Given the description of an element on the screen output the (x, y) to click on. 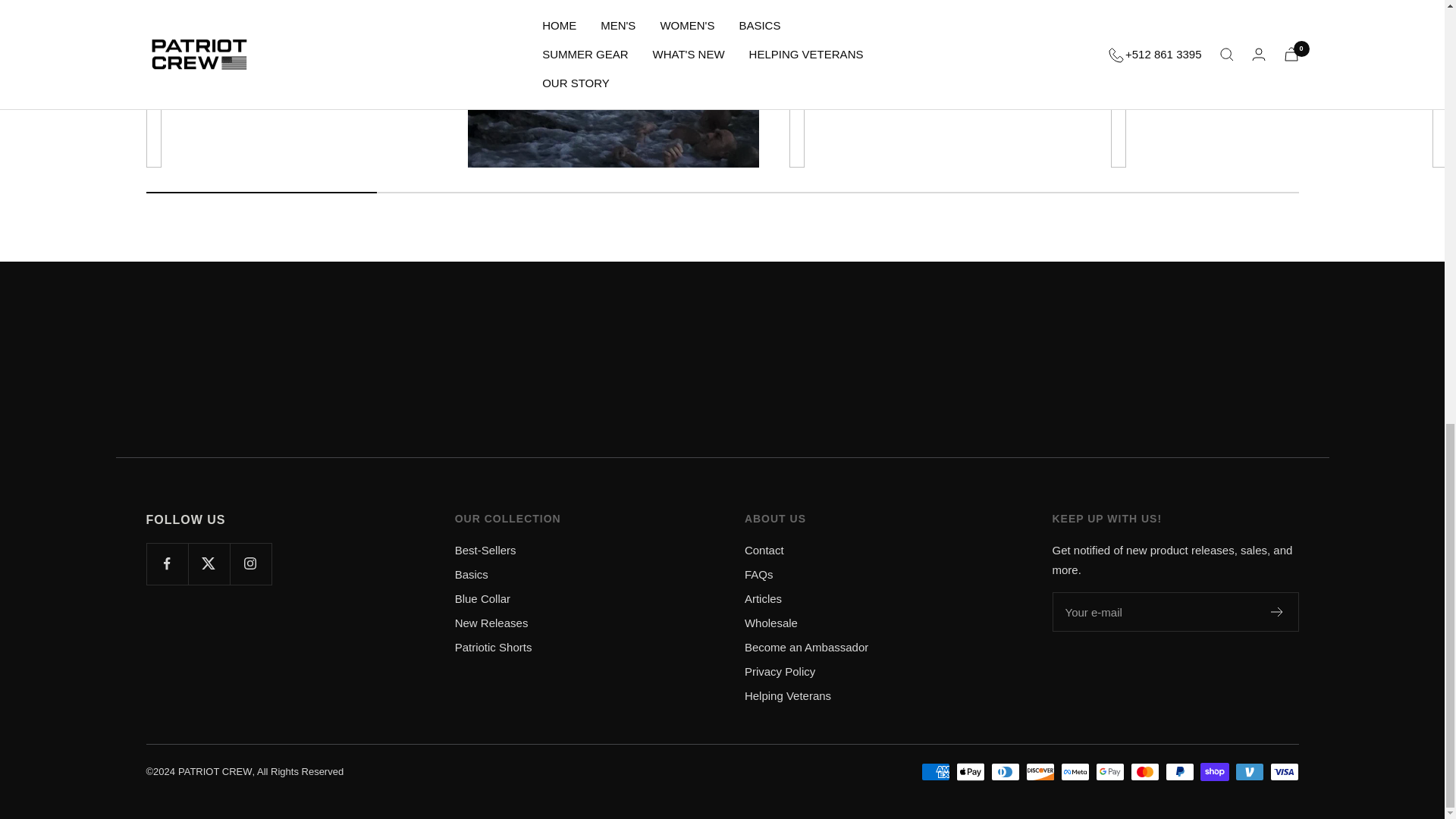
Register (1277, 611)
Blue Collar (482, 598)
Helping Veterans (787, 695)
Contact (764, 550)
FAQs (758, 574)
Wholesale (770, 623)
Become an Ambassador (805, 647)
Articles (762, 598)
Basics (470, 574)
Patriotic Shorts (493, 647)
